Given the description of an element on the screen output the (x, y) to click on. 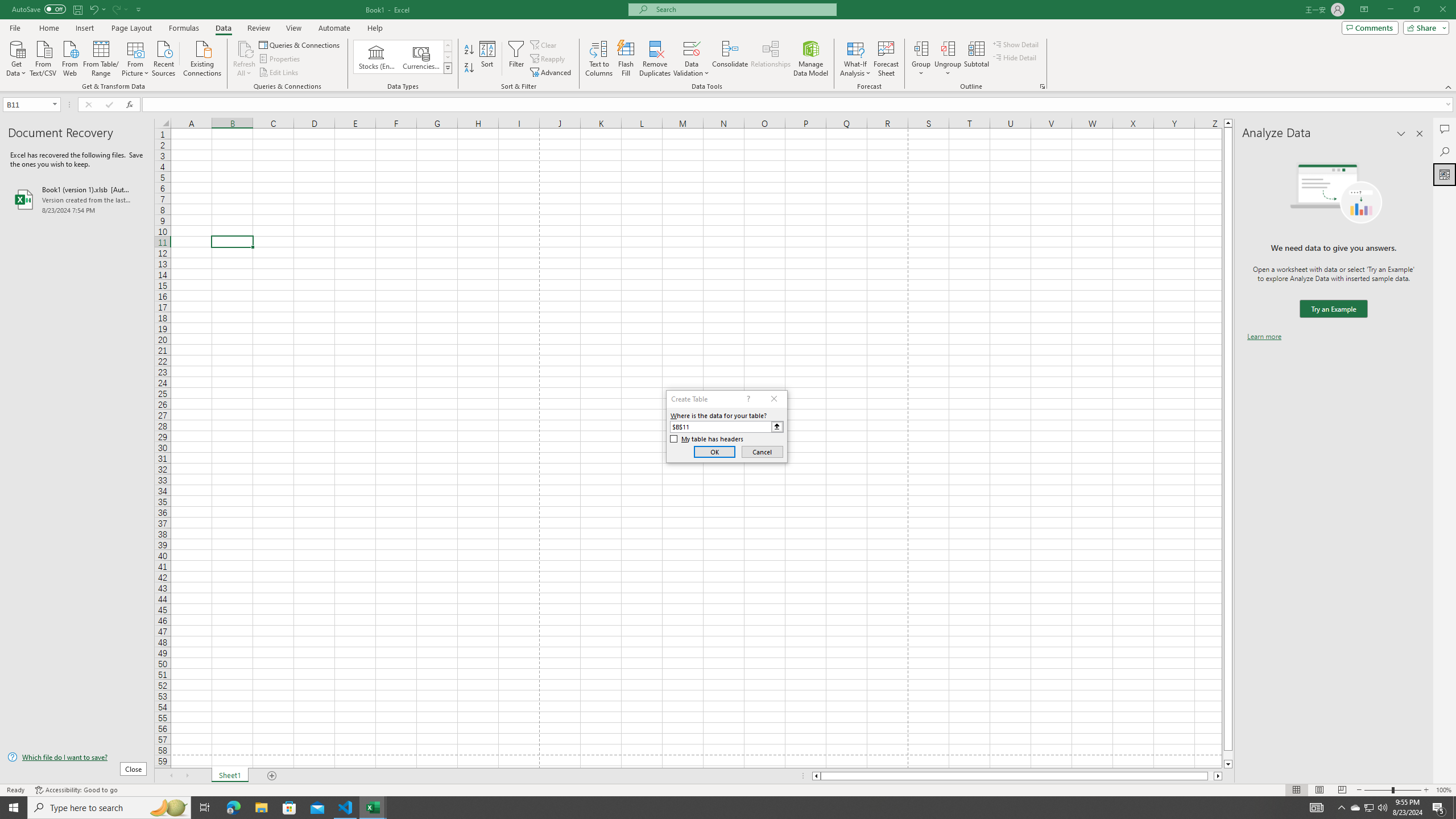
Close (1442, 9)
Close pane (1419, 133)
Zoom Out (1377, 790)
Group... (921, 58)
AutoSave (38, 9)
Customize Quick Access Toolbar (139, 9)
Book1 (version 1).xlsb  [AutoRecovered] (77, 199)
Row up (448, 45)
Name Box (27, 104)
Group and Outline Settings (1042, 85)
Advanced... (551, 72)
Undo (96, 9)
Class: MsoCommandBar (728, 45)
Microsoft search (742, 9)
